Given the description of an element on the screen output the (x, y) to click on. 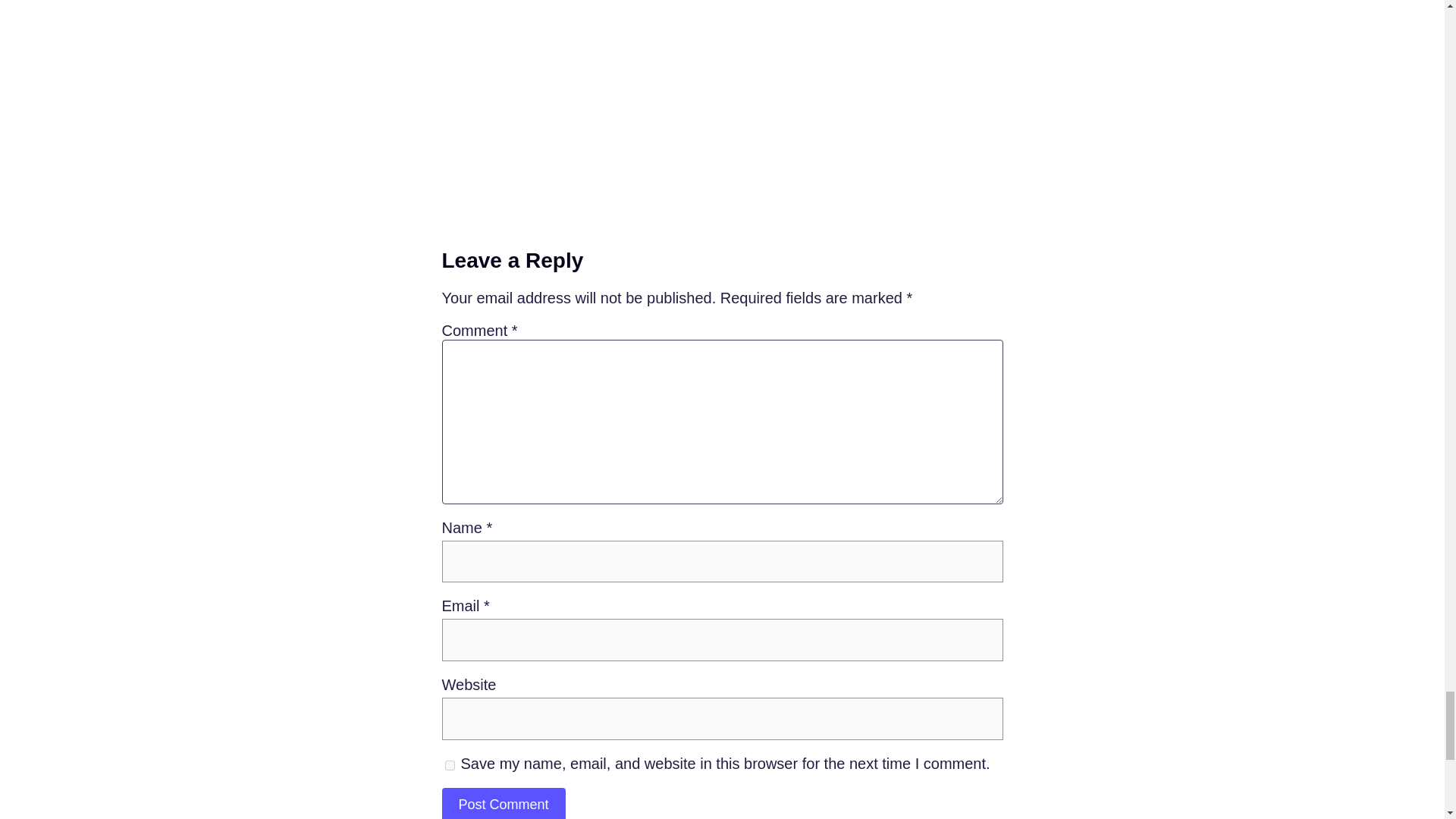
yes (449, 765)
Post Comment (502, 803)
